Given the description of an element on the screen output the (x, y) to click on. 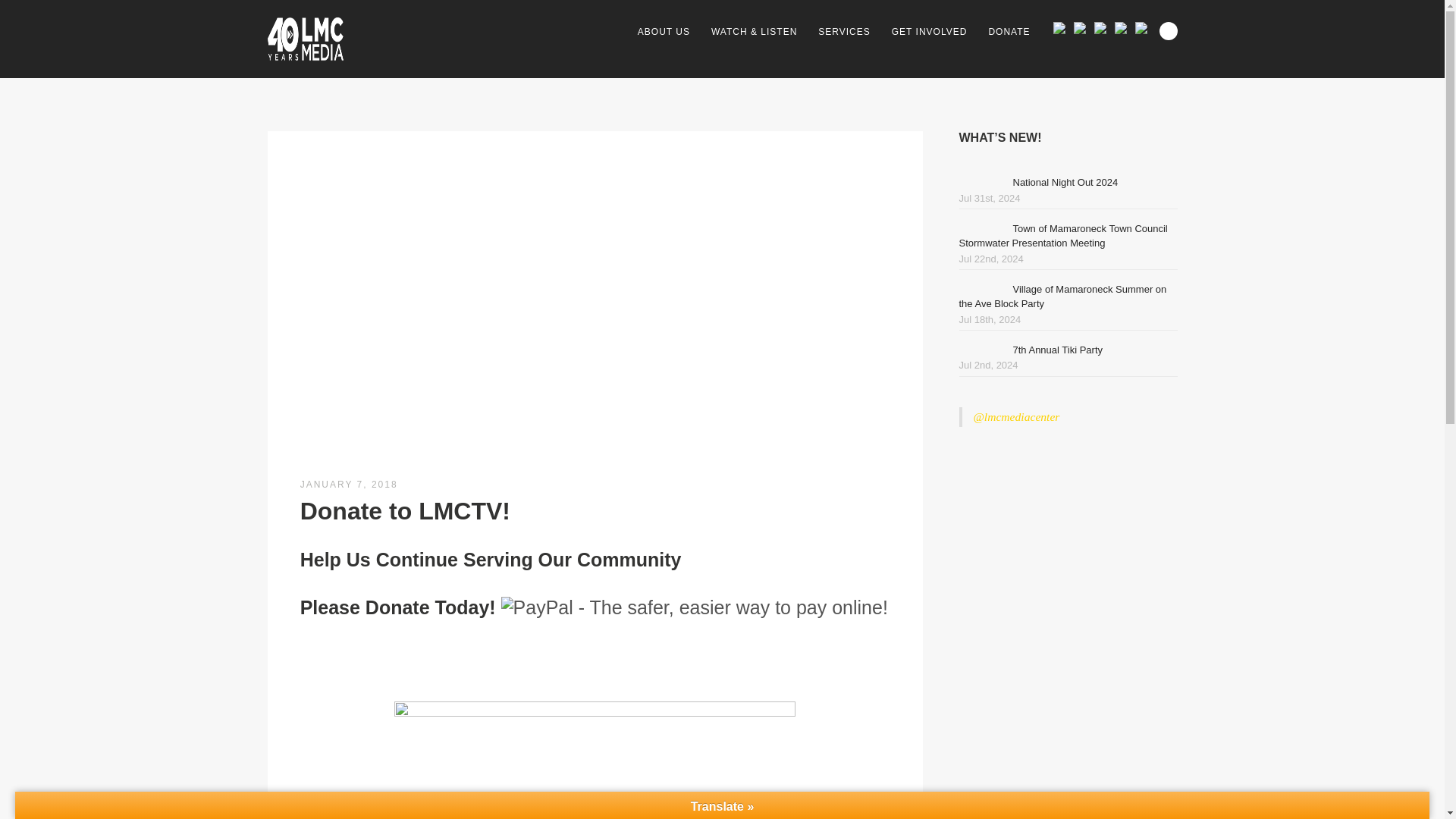
GET INVOLVED (929, 31)
ABOUT US (663, 31)
SERVICES (844, 31)
